Given the description of an element on the screen output the (x, y) to click on. 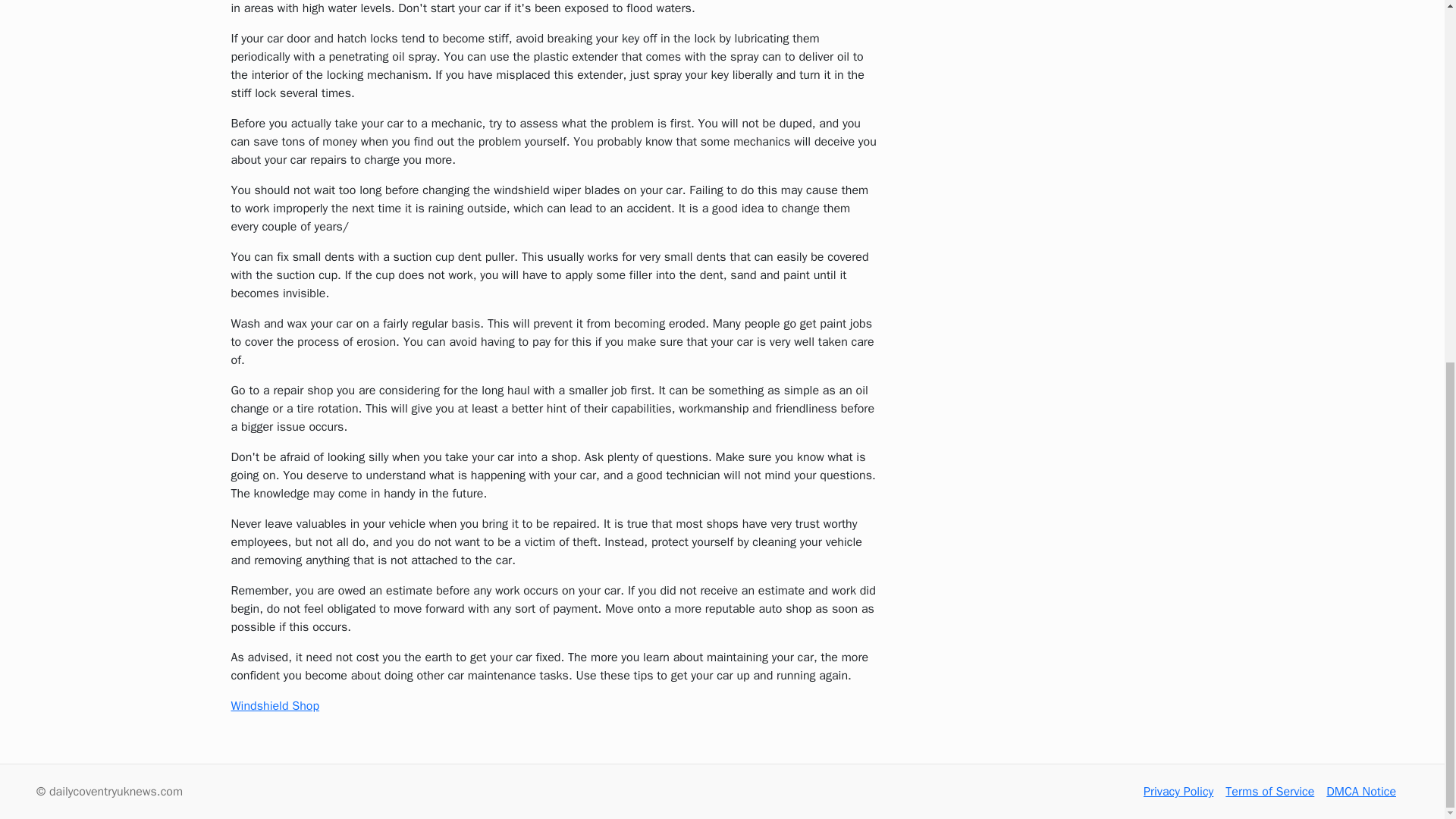
Privacy Policy (1177, 791)
DMCA Notice (1361, 791)
Terms of Service (1269, 791)
Windshield Shop (274, 705)
